Given the description of an element on the screen output the (x, y) to click on. 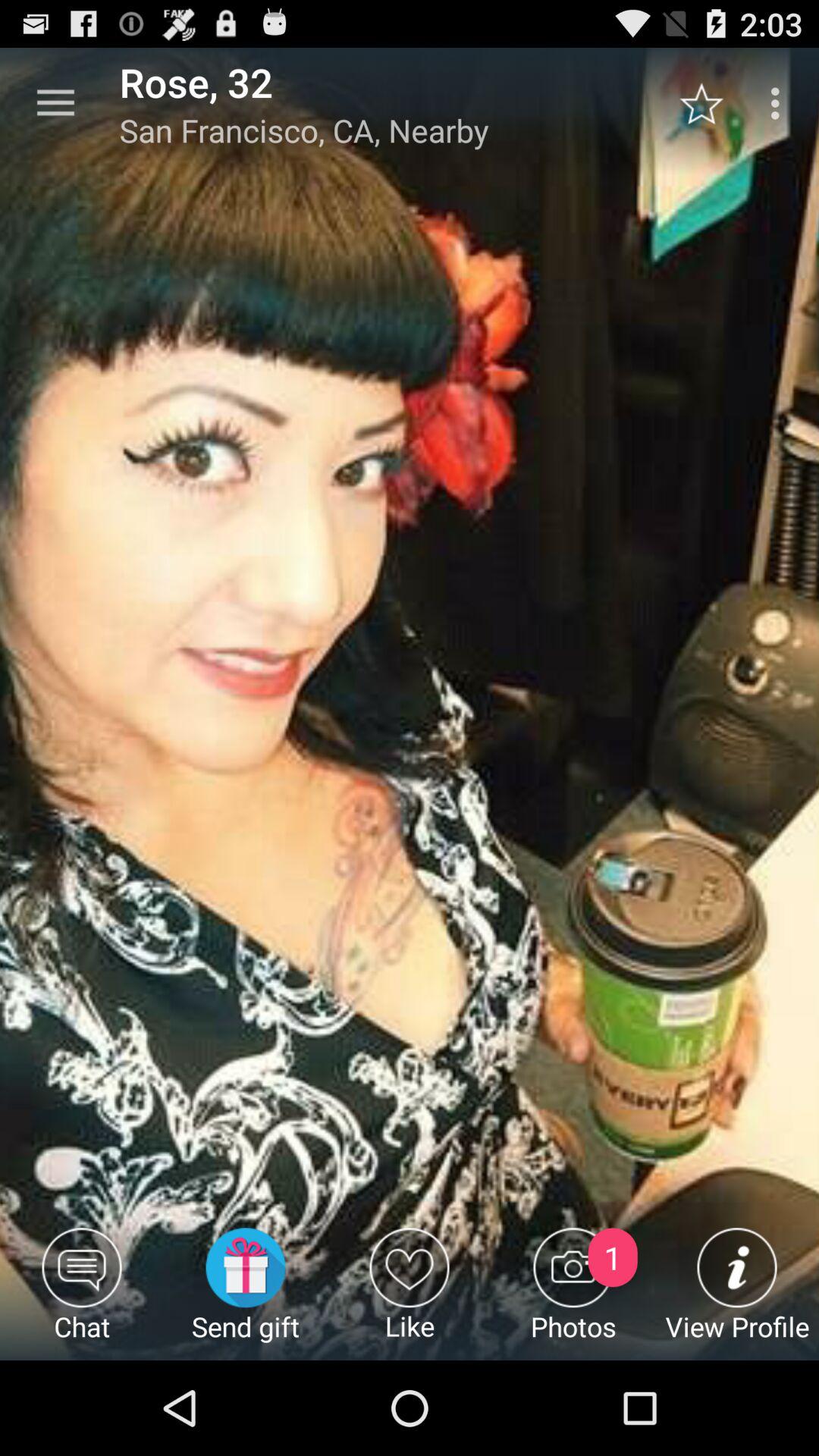
select the icon next to like icon (573, 1293)
